Given the description of an element on the screen output the (x, y) to click on. 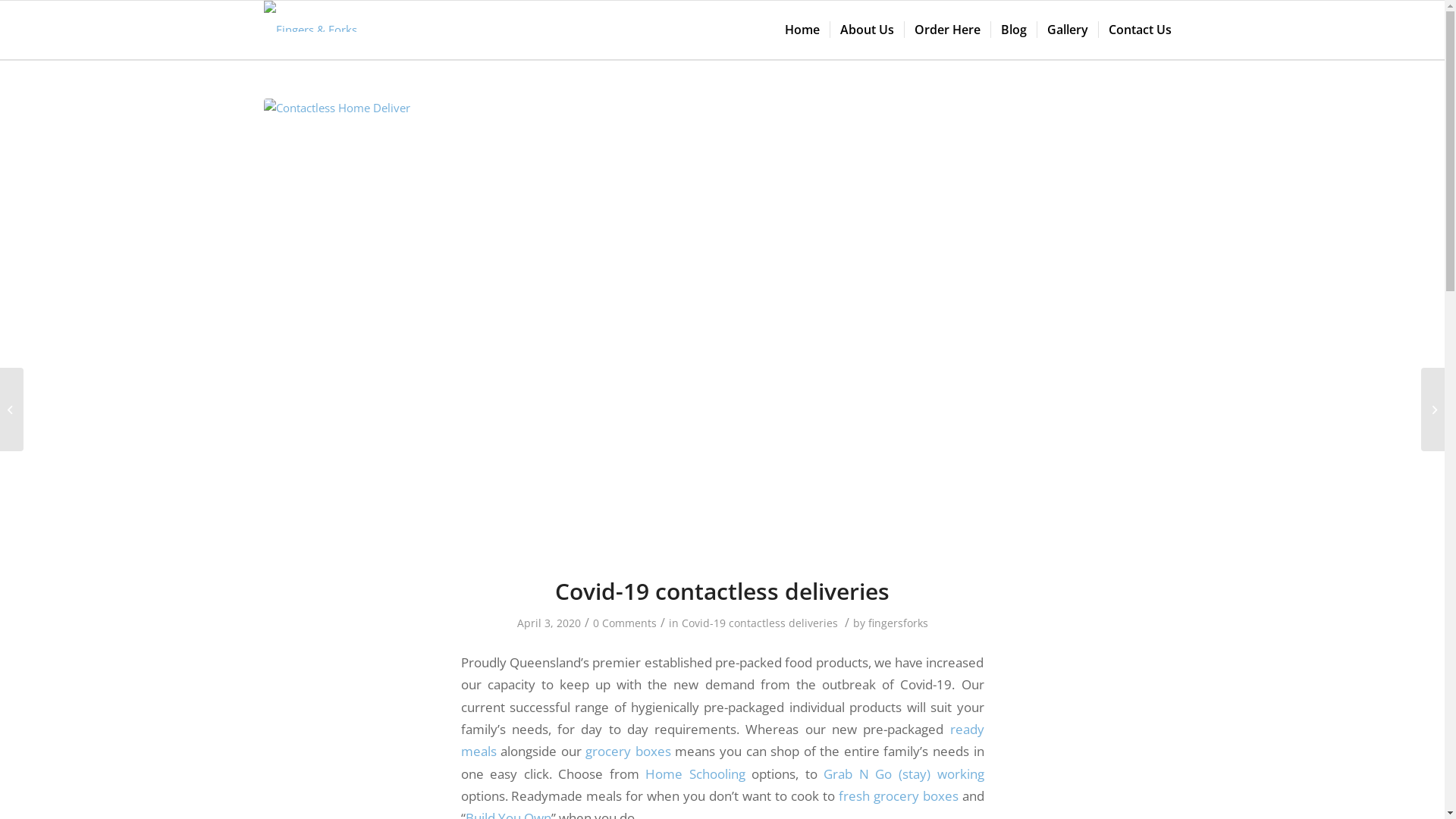
Grab N Go (stay) working Element type: text (903, 773)
Covid-19 contactless deliveries Element type: text (722, 590)
grocery boxes Element type: text (626, 750)
Home Element type: text (802, 29)
0 Comments Element type: text (624, 622)
fresh grocery boxes Element type: text (900, 795)
Gallery Element type: text (1066, 29)
Contact Us Element type: text (1139, 29)
Blog Element type: text (1013, 29)
ready meals Element type: text (722, 739)
246295eab46f4200b6ee412c53bb84db Element type: hover (722, 327)
Order Here Element type: text (946, 29)
Home Schooling Element type: text (698, 773)
About Us Element type: text (866, 29)
Covid-19 contactless deliveries Element type: text (758, 622)
fingersforks Element type: text (897, 622)
